Given the description of an element on the screen output the (x, y) to click on. 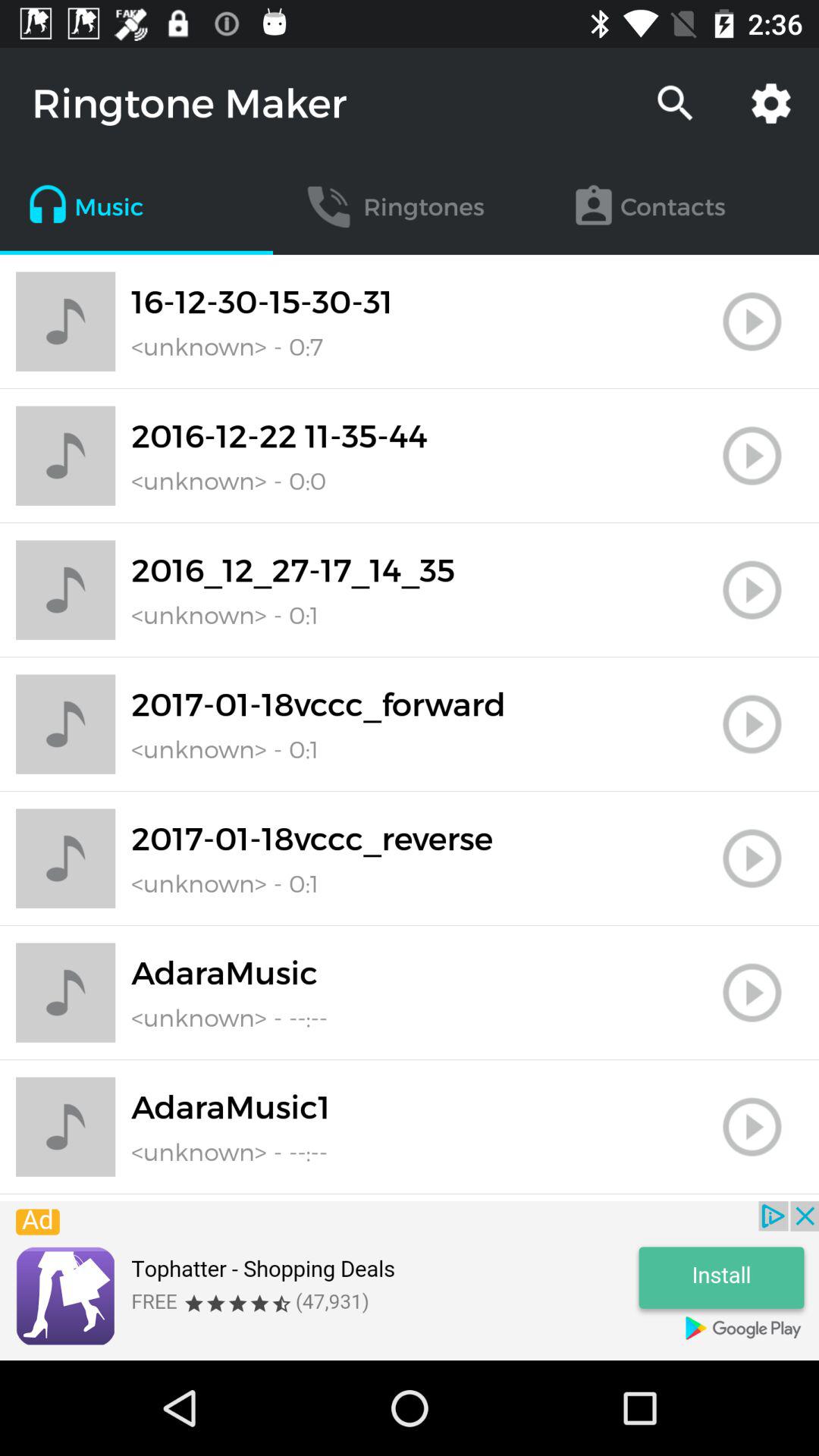
view advert (409, 1280)
